Given the description of an element on the screen output the (x, y) to click on. 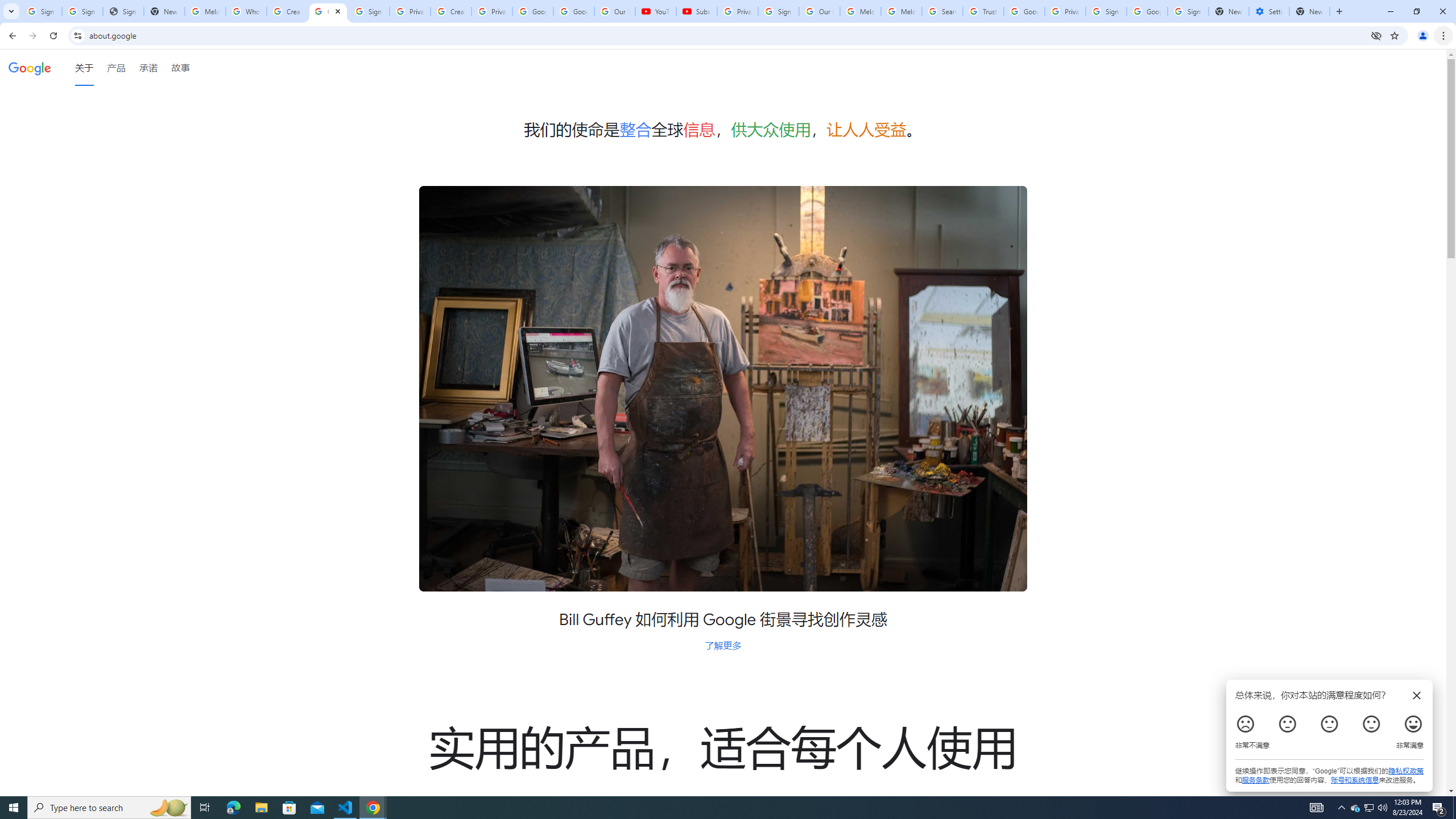
Subscriptions - YouTube (696, 11)
Google Ads - Sign in (1023, 11)
